Given the description of an element on the screen output the (x, y) to click on. 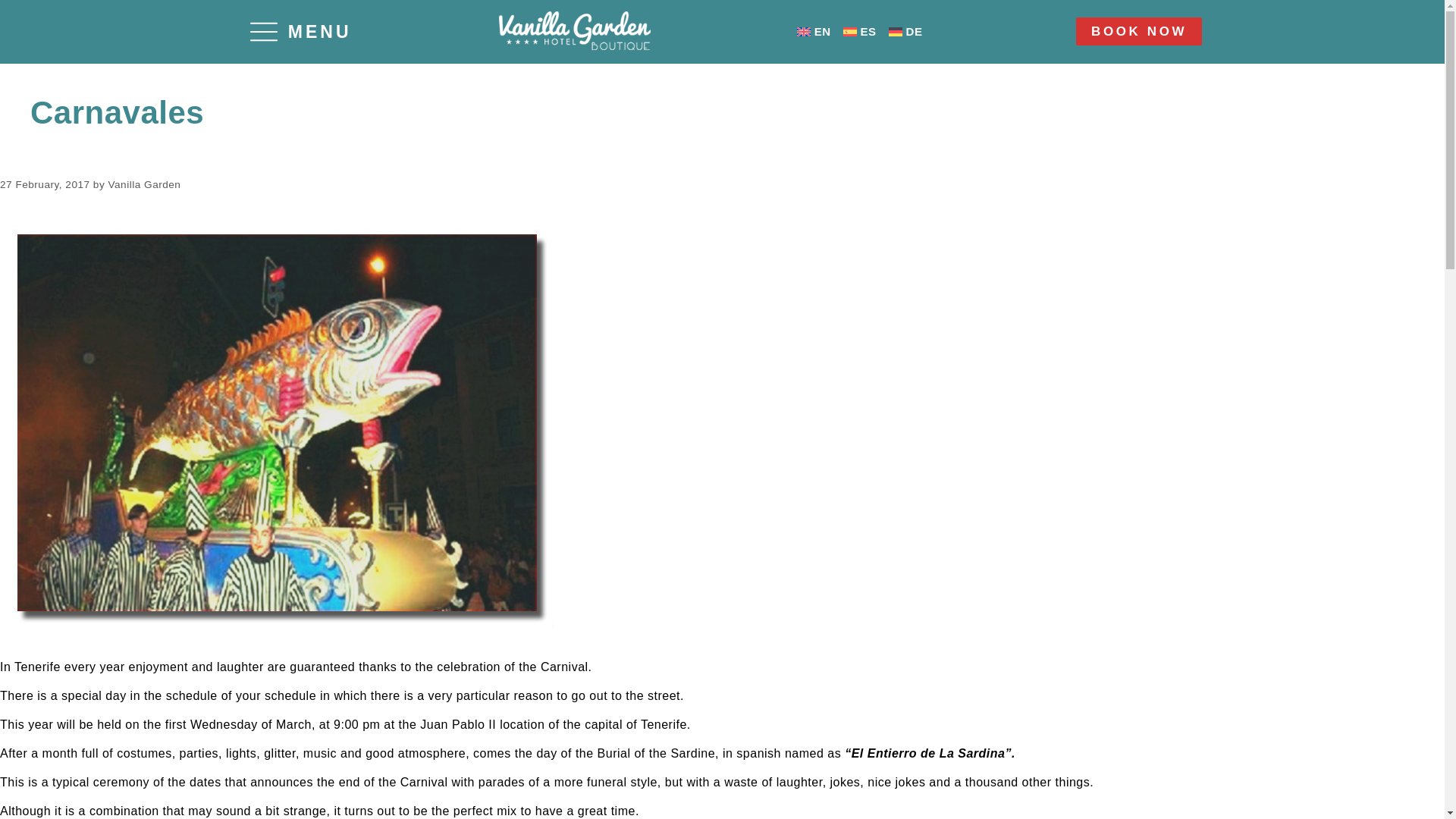
View all posts by Vanilla Garden (143, 184)
DE (905, 31)
MENU (301, 31)
ES (859, 31)
EN (813, 31)
Vanilla Garden (143, 184)
BOOK NOW (1138, 31)
